Given the description of an element on the screen output the (x, y) to click on. 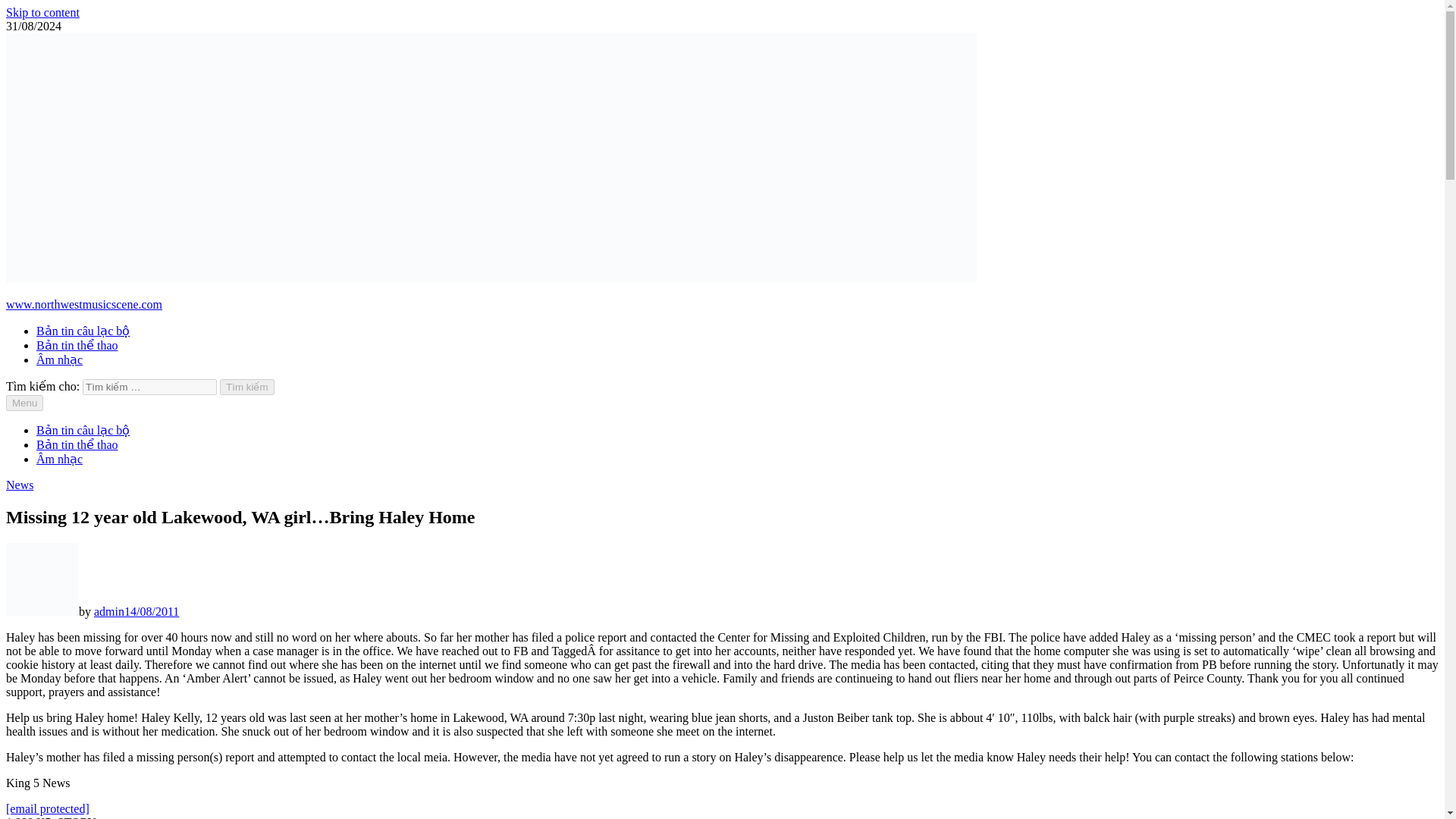
Menu (24, 402)
www.northwestmusicscene.com (83, 304)
admin (108, 611)
News (19, 484)
Skip to content (42, 11)
